Given the description of an element on the screen output the (x, y) to click on. 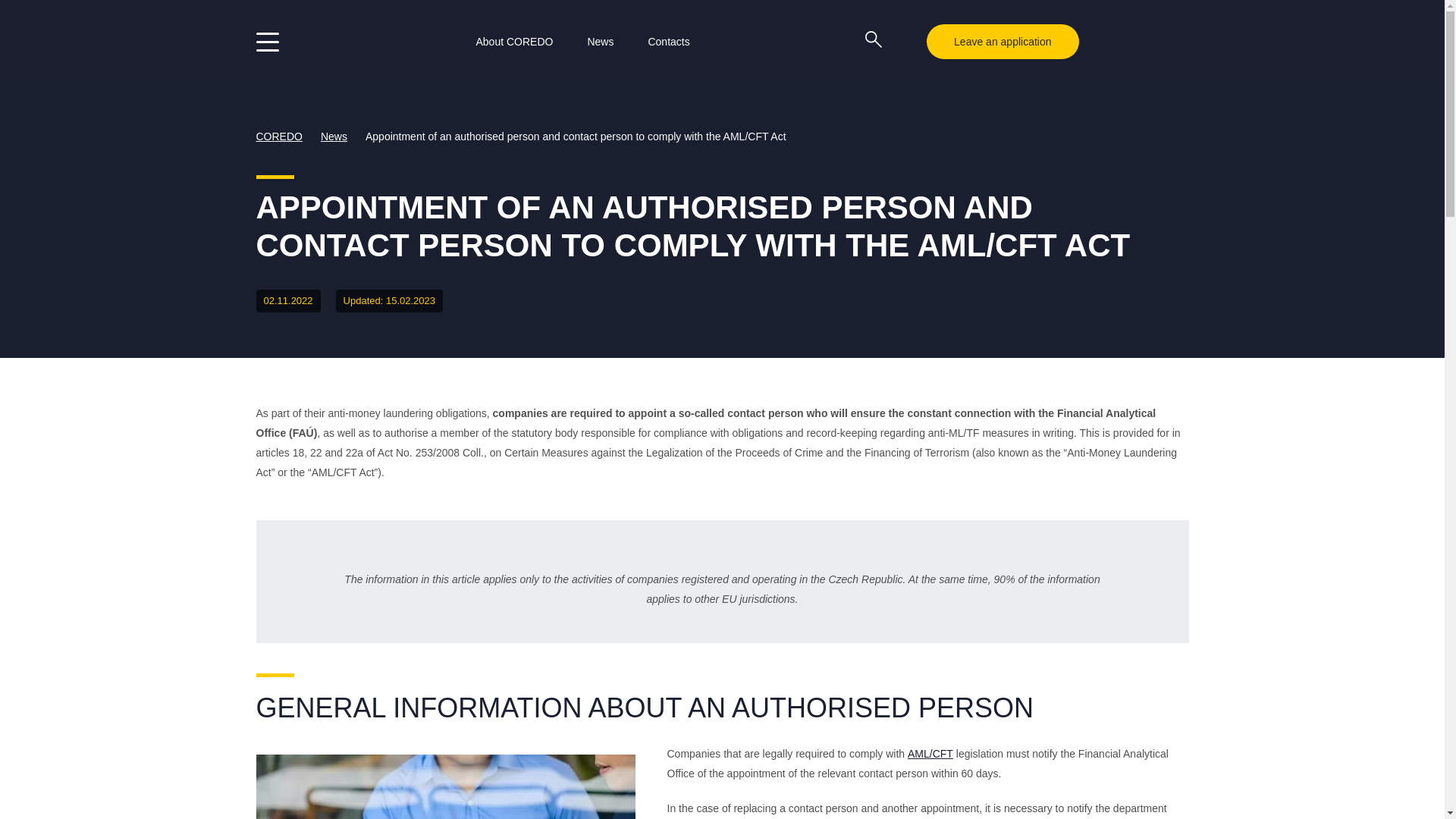
Search (889, 36)
News (599, 41)
About COREDO (514, 41)
Go to the News Category archives. (339, 136)
Go to COREDO. (284, 136)
Leave an application (1002, 41)
Contacts (667, 41)
